Given the description of an element on the screen output the (x, y) to click on. 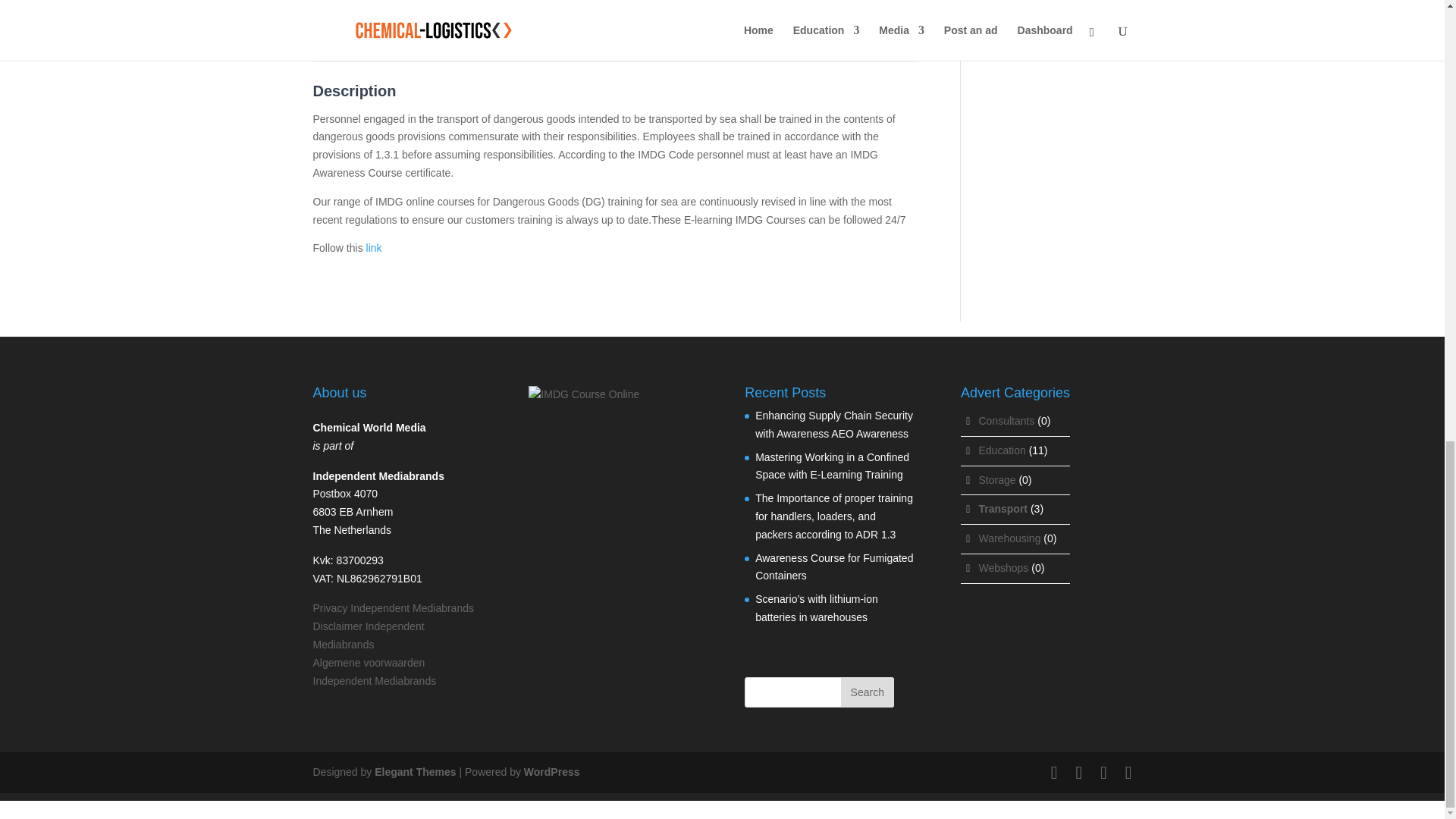
Search (867, 692)
Premium WordPress Themes (414, 771)
